Given the description of an element on the screen output the (x, y) to click on. 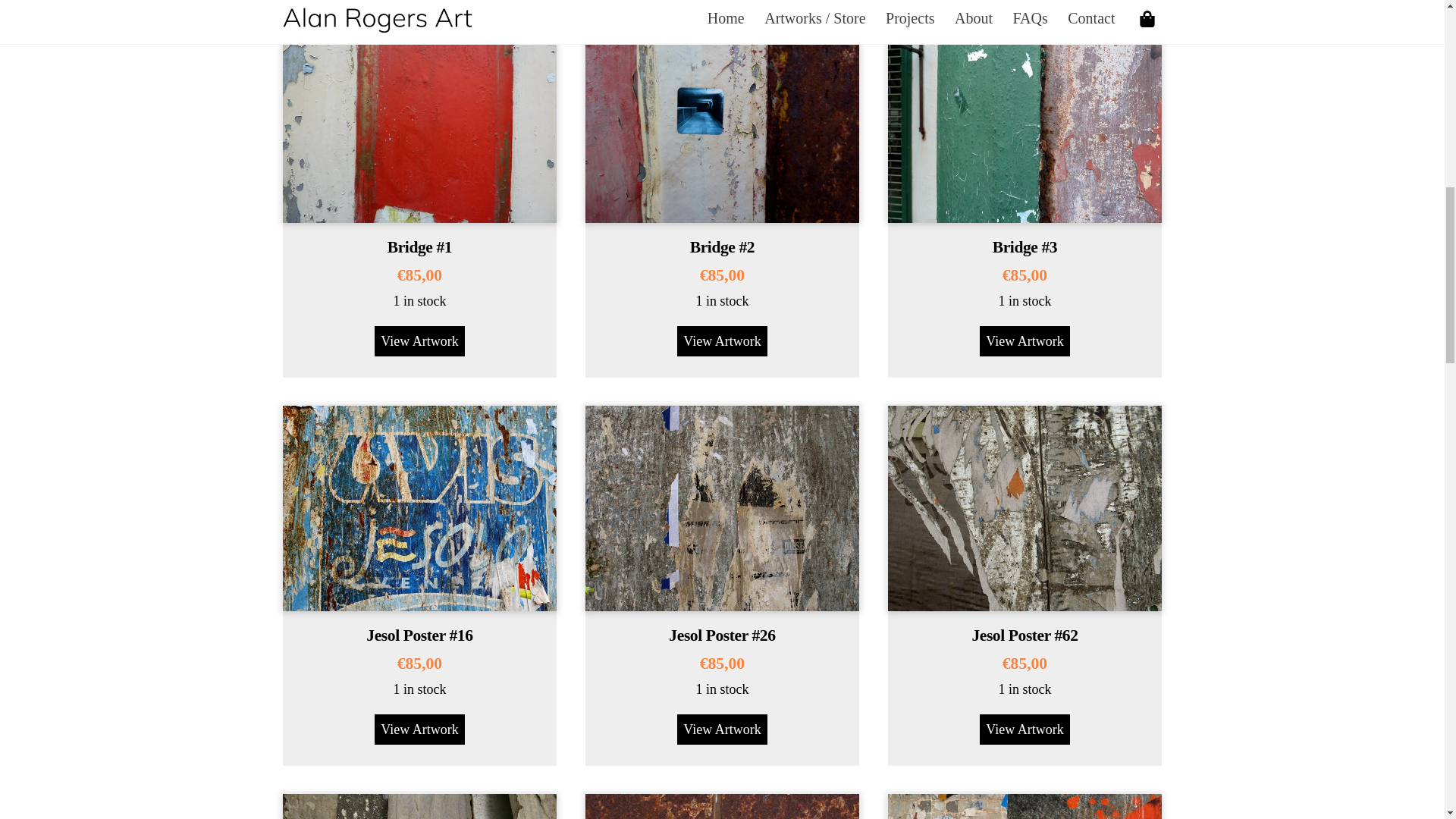
jesolposter064 (419, 806)
jesolposter062 (1024, 507)
View Artwork (722, 729)
View Artwork (419, 729)
View Artwork (1023, 340)
jesolposter026 (722, 507)
extraurban2 (722, 806)
Bridge3 (1024, 119)
Bridge2 (722, 119)
jesolposter016 (419, 507)
